Given the description of an element on the screen output the (x, y) to click on. 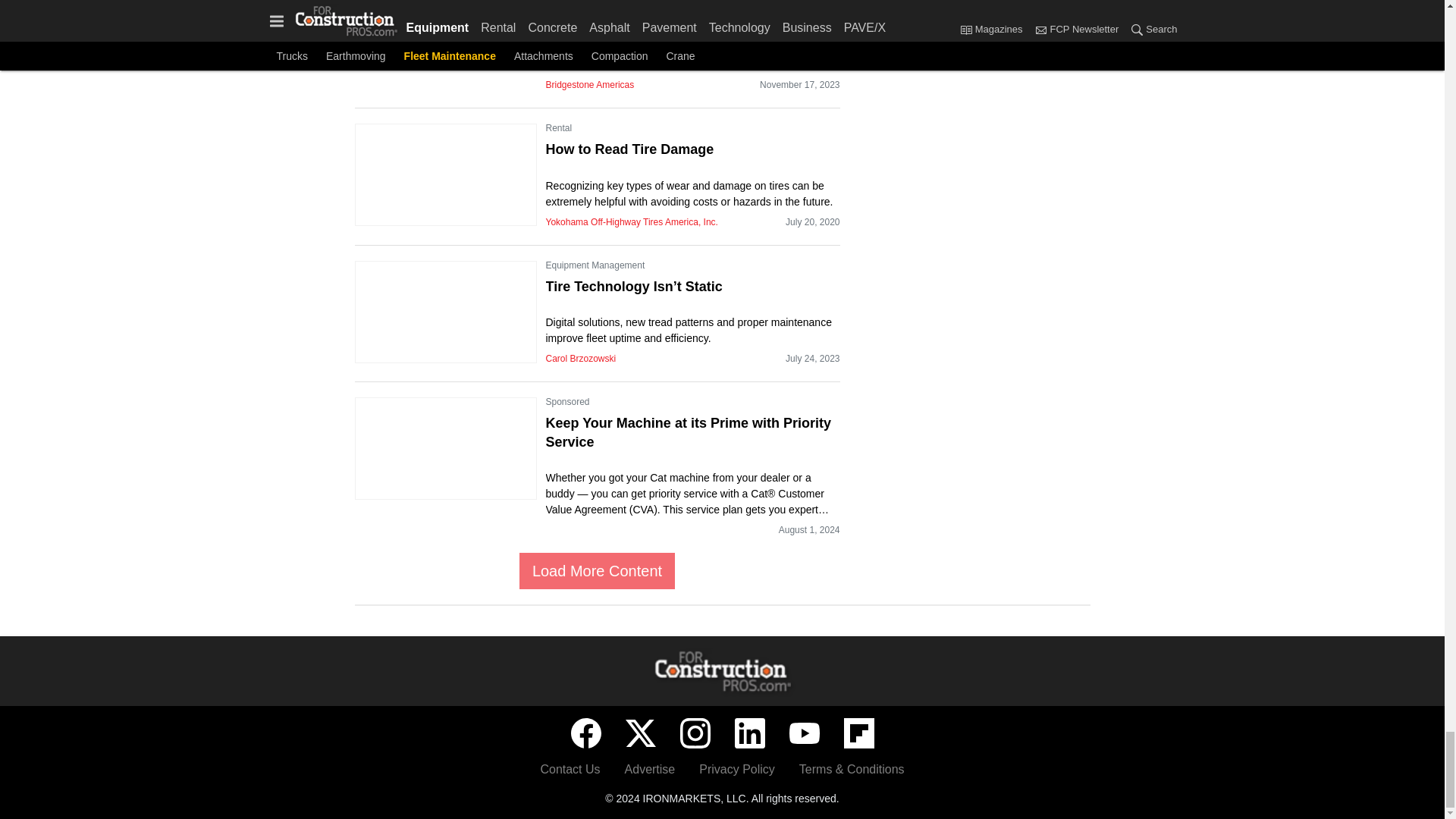
Flipboard icon (858, 733)
YouTube icon (803, 733)
Twitter X icon (639, 733)
Instagram icon (694, 733)
LinkedIn icon (748, 733)
Facebook icon (584, 733)
